Given the description of an element on the screen output the (x, y) to click on. 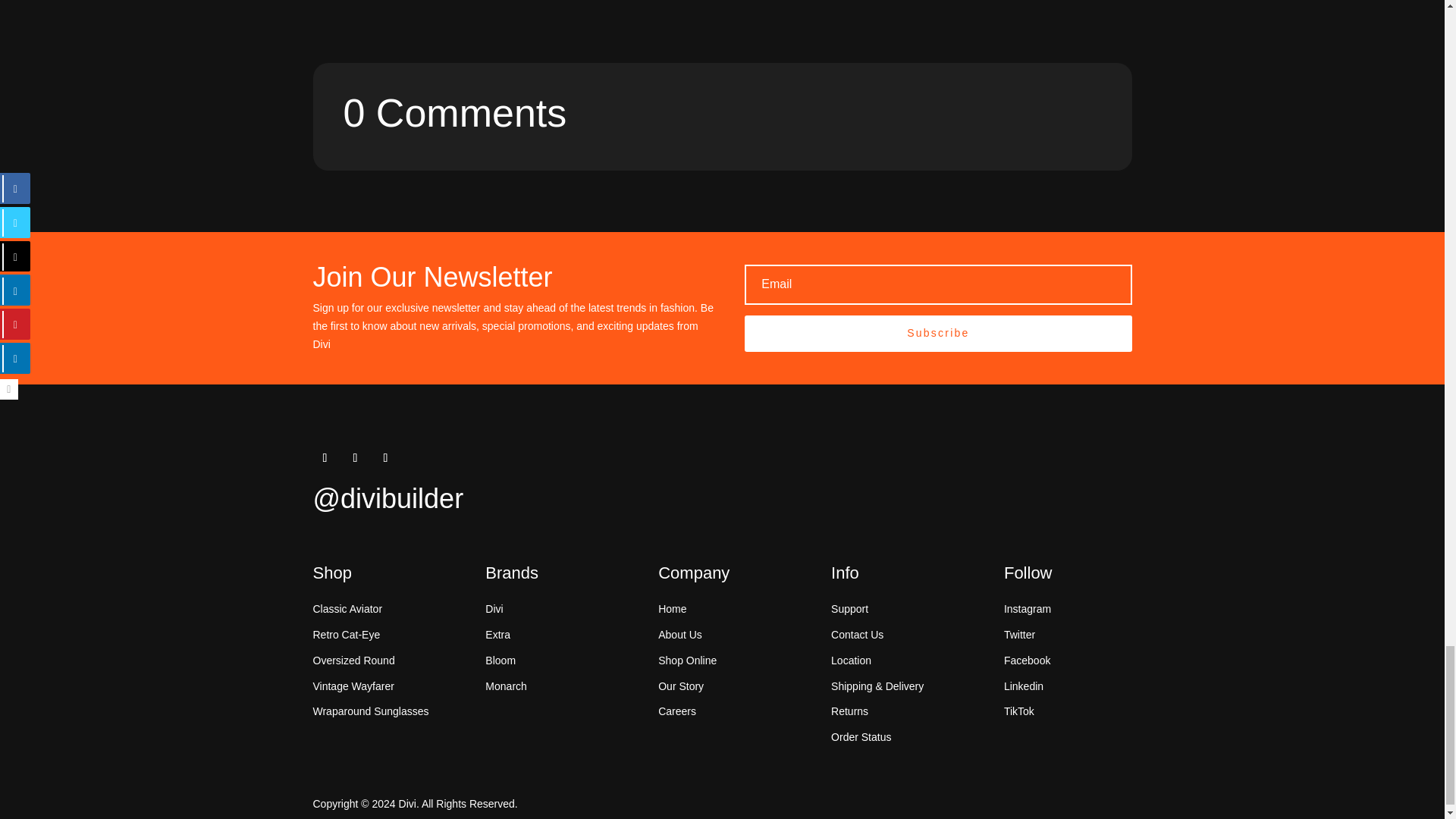
Bloom (499, 660)
Extra (497, 634)
Wraparound Sunglasses (370, 711)
Classic Aviator (347, 608)
Vintage Wayfarer (353, 686)
Oversized Round (353, 660)
Follow on Instagram (384, 457)
Monarch (504, 686)
Subscribe (937, 333)
Follow on Facebook (324, 457)
